Given the description of an element on the screen output the (x, y) to click on. 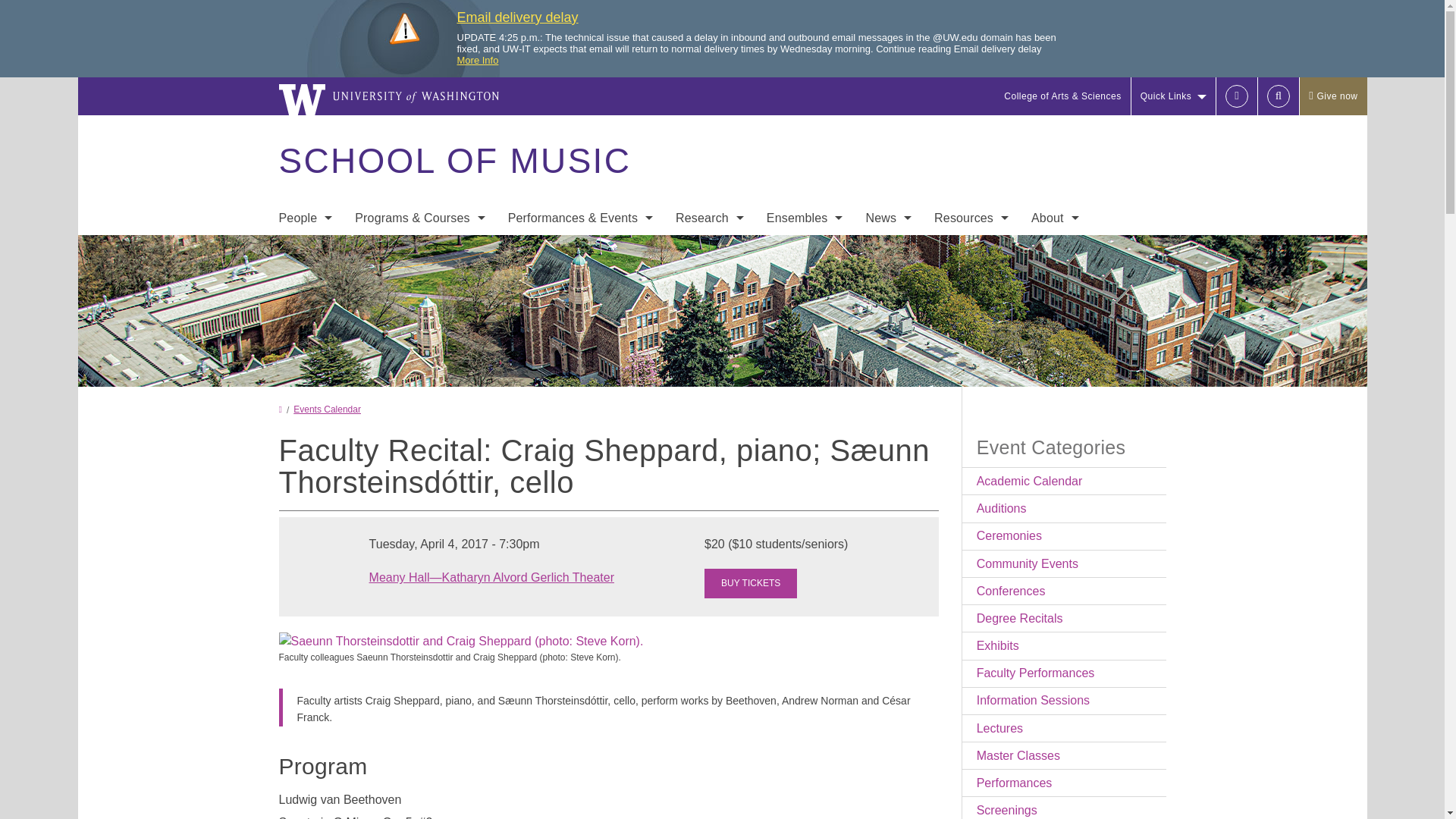
Email delivery delay (517, 17)
Areas of Study (419, 250)
SCHOOL OF MUSIC (454, 160)
Email delivery delay (477, 60)
Graduate Students (304, 310)
Email delivery delay (517, 17)
Alumni (304, 371)
Quick Links (1173, 95)
People (304, 217)
